Given the description of an element on the screen output the (x, y) to click on. 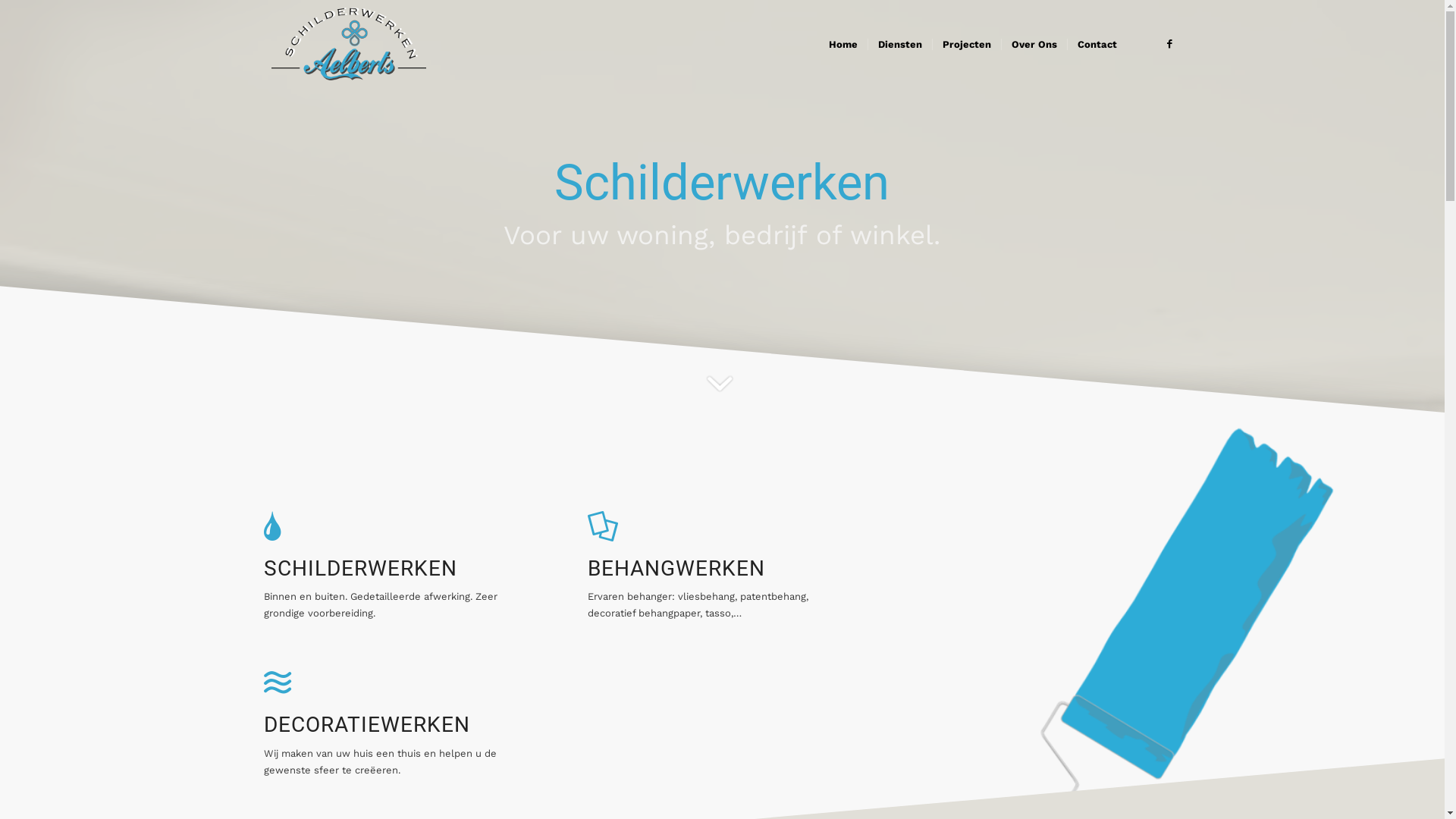
Over Ons Element type: text (1033, 44)
Facebook Element type: hover (1169, 43)
Home Element type: text (843, 44)
Projecten Element type: text (965, 44)
Contact Element type: text (1096, 44)
Diensten Element type: text (899, 44)
